Given the description of an element on the screen output the (x, y) to click on. 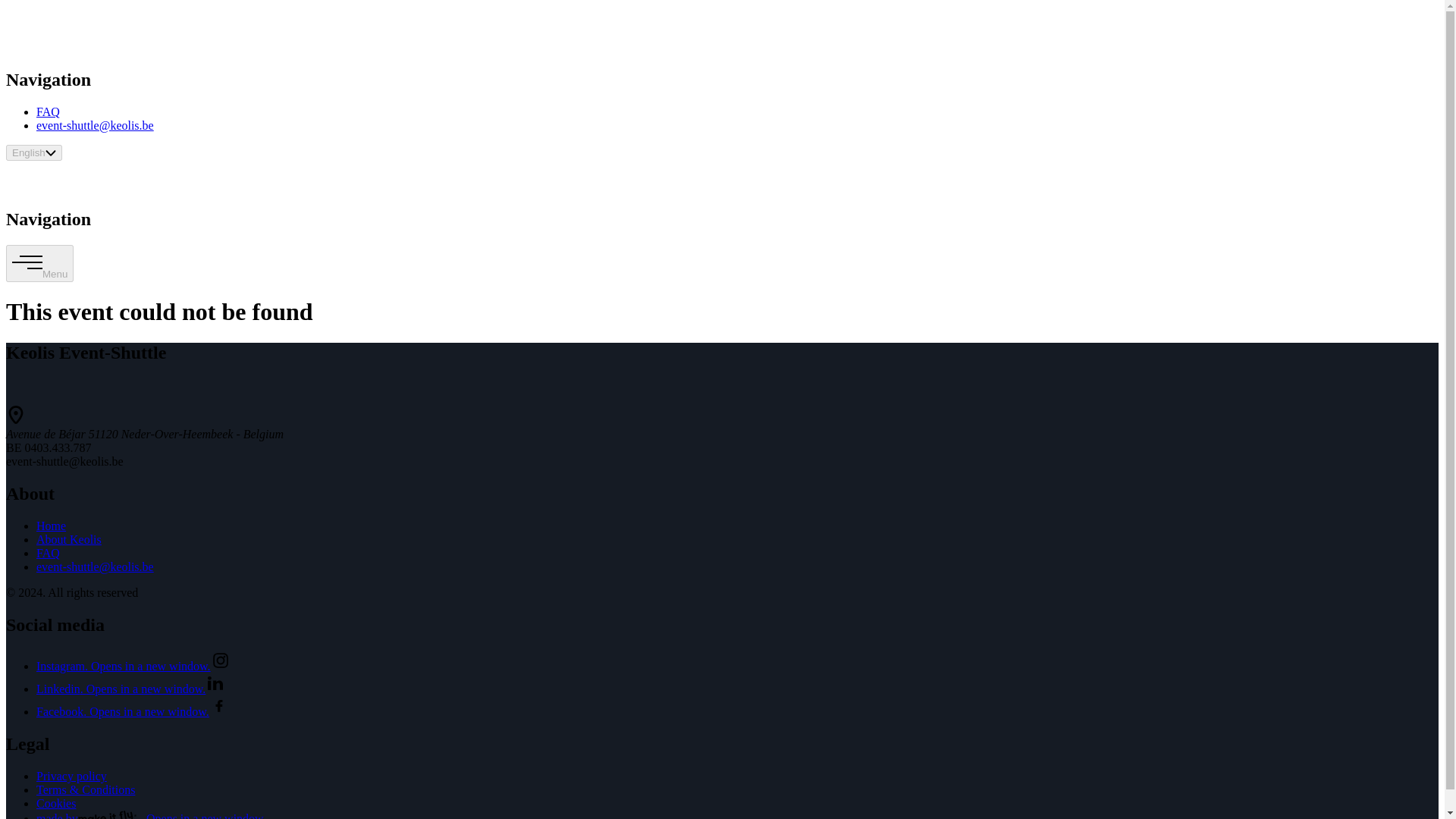
Linkedin. Opens in a new window. (130, 688)
Instagram. Opens in a new window. (133, 666)
Privacy policy (71, 775)
English (33, 152)
Home (50, 525)
FAQ (47, 111)
Cookies (55, 802)
Menu (39, 262)
FAQ (47, 553)
About Keolis (68, 539)
Facebook. Opens in a new window. (132, 711)
